Given the description of an element on the screen output the (x, y) to click on. 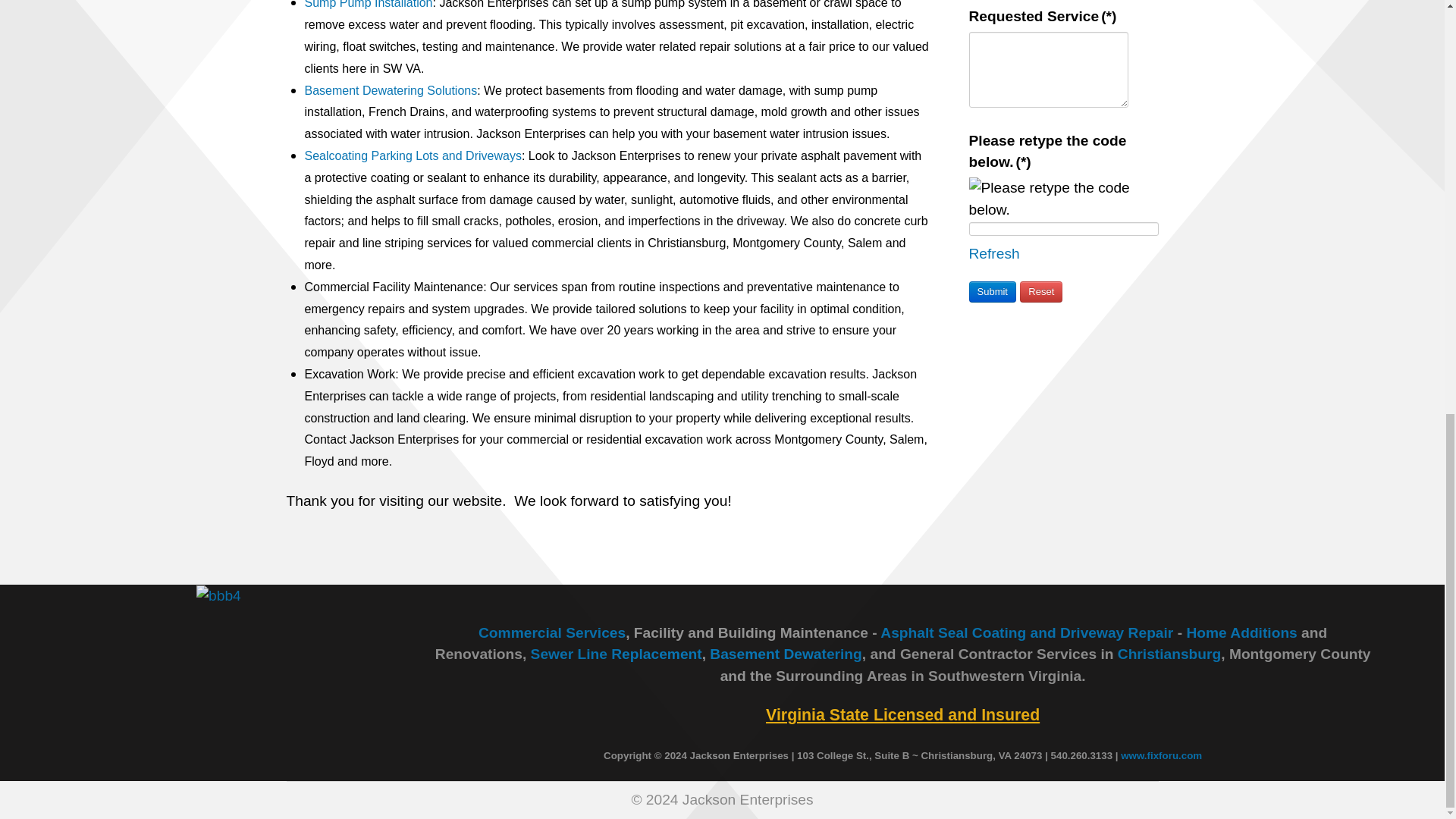
Submit (992, 291)
Reset (1041, 291)
Sump Pump Installation (368, 4)
Basement Dewatering Solutions (390, 90)
Sealcoating Parking Lots and Driveways (412, 155)
